Given the description of an element on the screen output the (x, y) to click on. 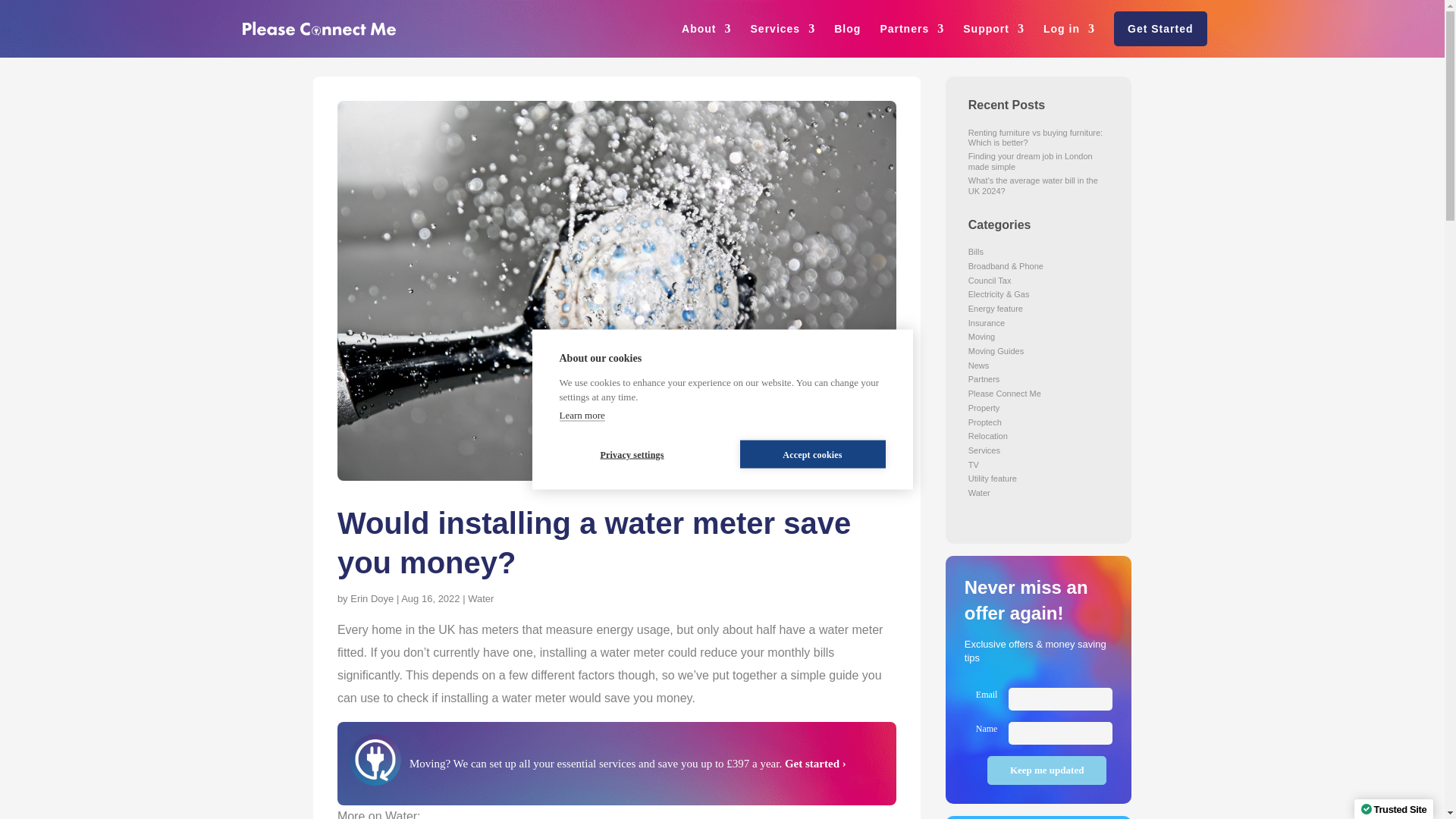
Keep me updated (1046, 769)
Blog (847, 28)
Support (993, 28)
Posts by Erin Doye (371, 598)
Partners (911, 28)
Get Started (1159, 28)
Services (783, 28)
About (705, 28)
Log in (1068, 28)
